Given the description of an element on the screen output the (x, y) to click on. 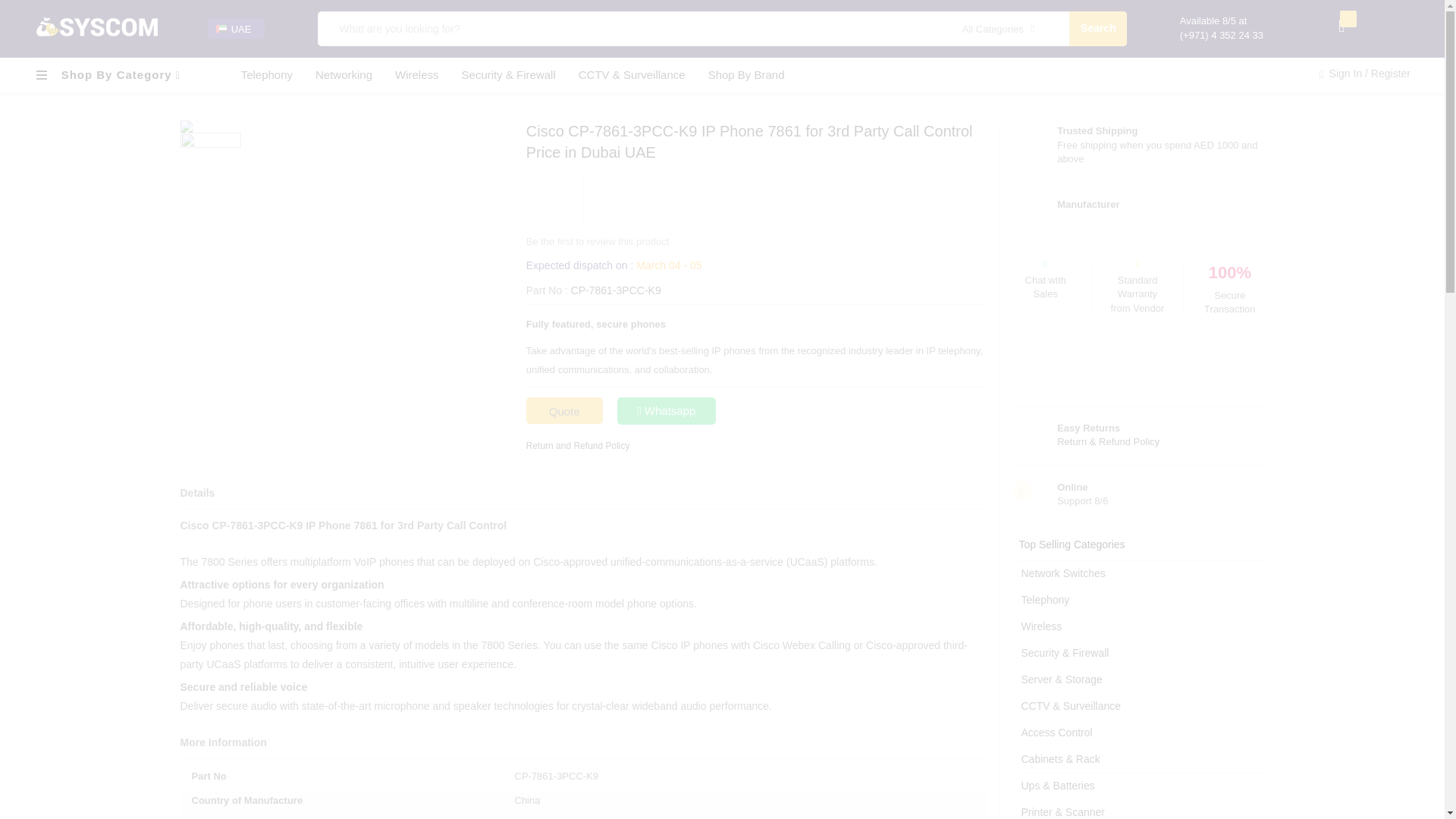
Delivery (613, 265)
Cisco (554, 198)
UAE (241, 29)
Search (1097, 28)
Enquire Now (666, 411)
Sign In (1347, 73)
Register (1390, 73)
